Given the description of an element on the screen output the (x, y) to click on. 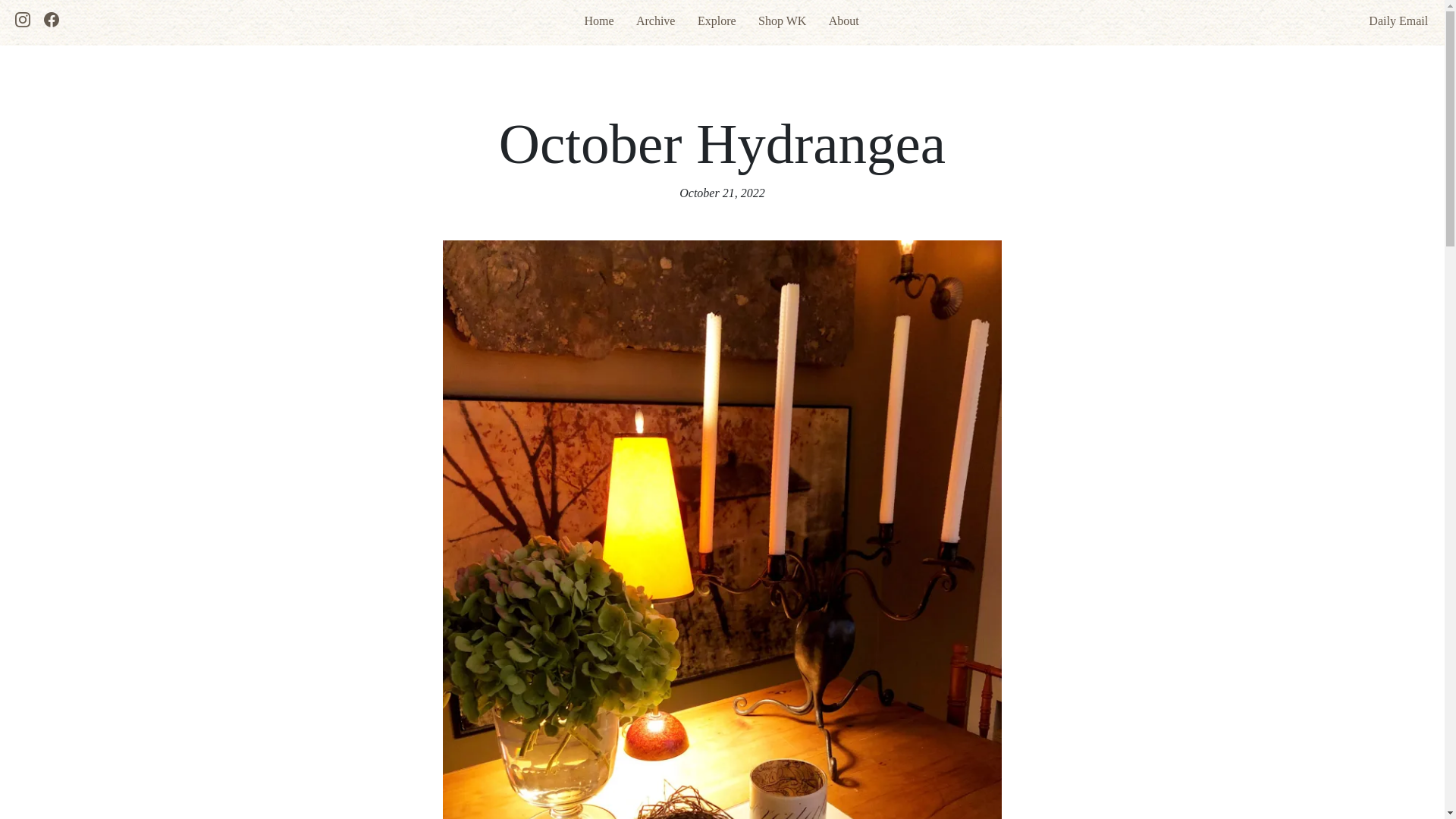
Home (597, 20)
Explore (716, 20)
Shop WK (782, 20)
Daily Email (1390, 19)
Archive (655, 20)
About (843, 20)
